Given the description of an element on the screen output the (x, y) to click on. 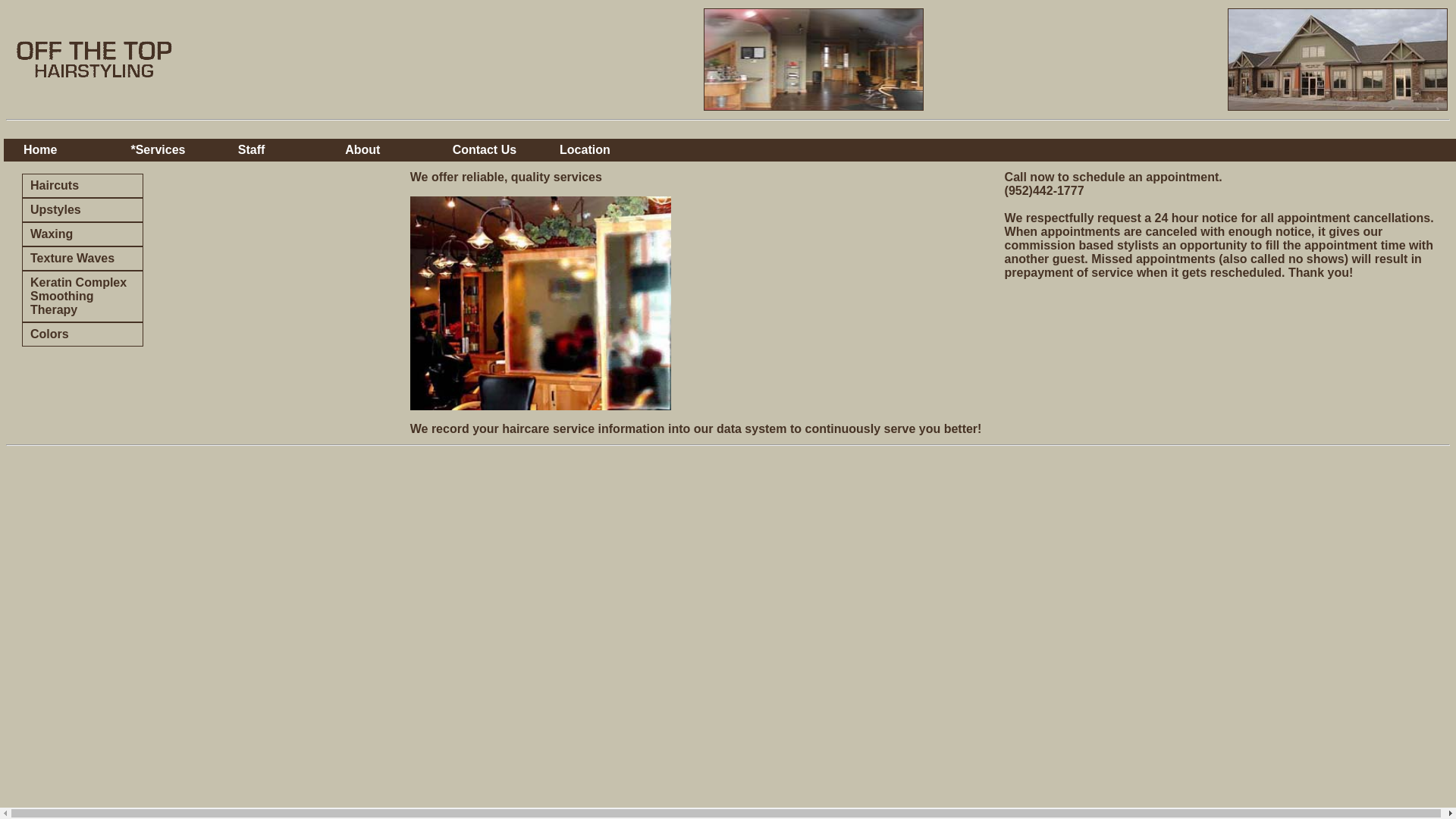
Haircuts (81, 185)
Home (69, 149)
Off The Top Logo (94, 59)
Home (69, 149)
About (391, 149)
Texture Waves (81, 258)
Contact Us (499, 149)
About (391, 149)
Select for information on Services (176, 149)
Off The Top Inside (813, 59)
Colors (81, 334)
Staff (284, 149)
Location (606, 149)
Off The Top Building (1337, 59)
Upstyles (81, 209)
